Given the description of an element on the screen output the (x, y) to click on. 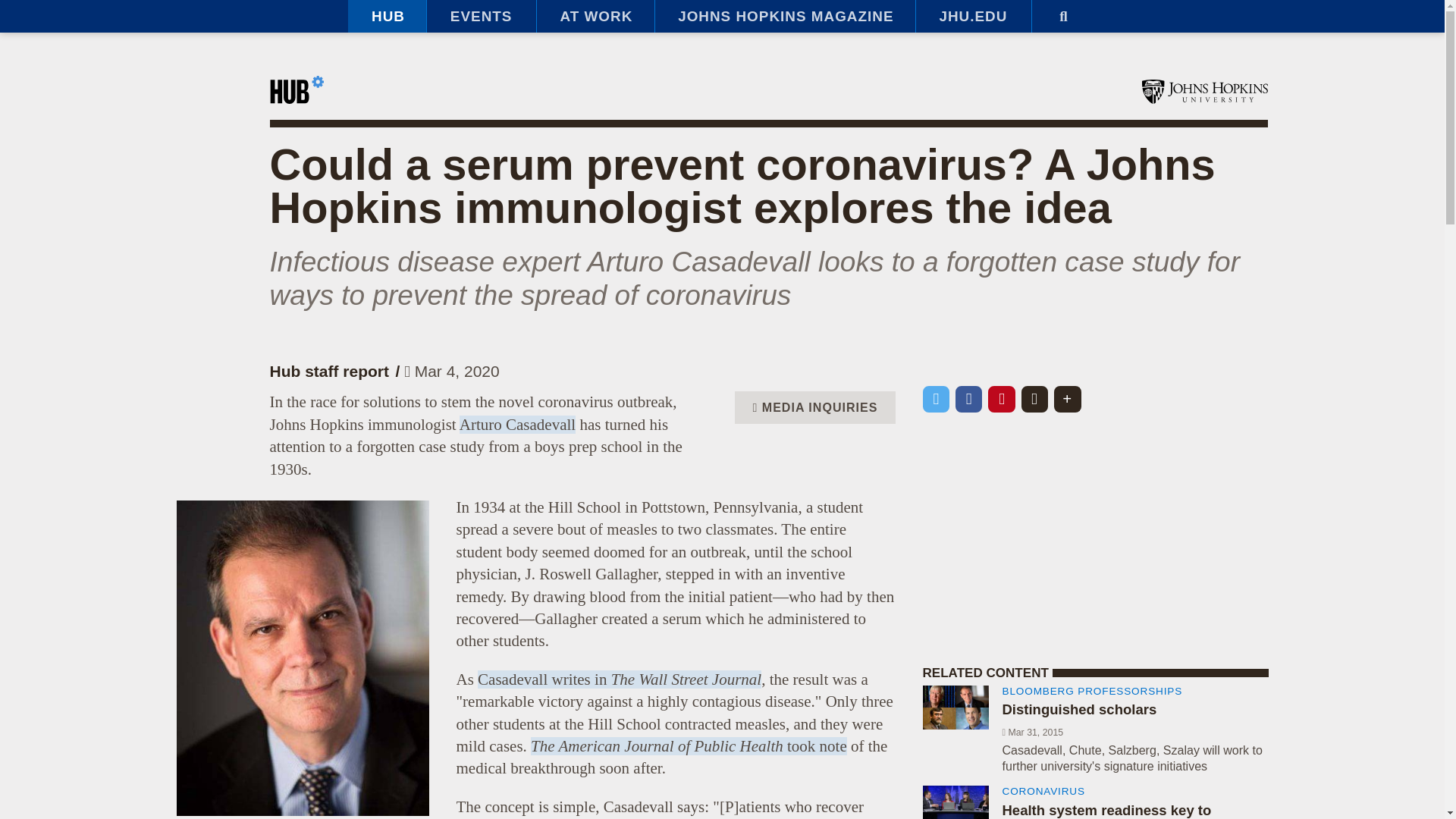
AT WORK (594, 16)
JHU.EDU (972, 16)
HUB (386, 16)
EVENTS (480, 16)
Johns Hopkins University (1204, 91)
JOHNS HOPKINS MAGAZINE (784, 16)
